Given the description of an element on the screen output the (x, y) to click on. 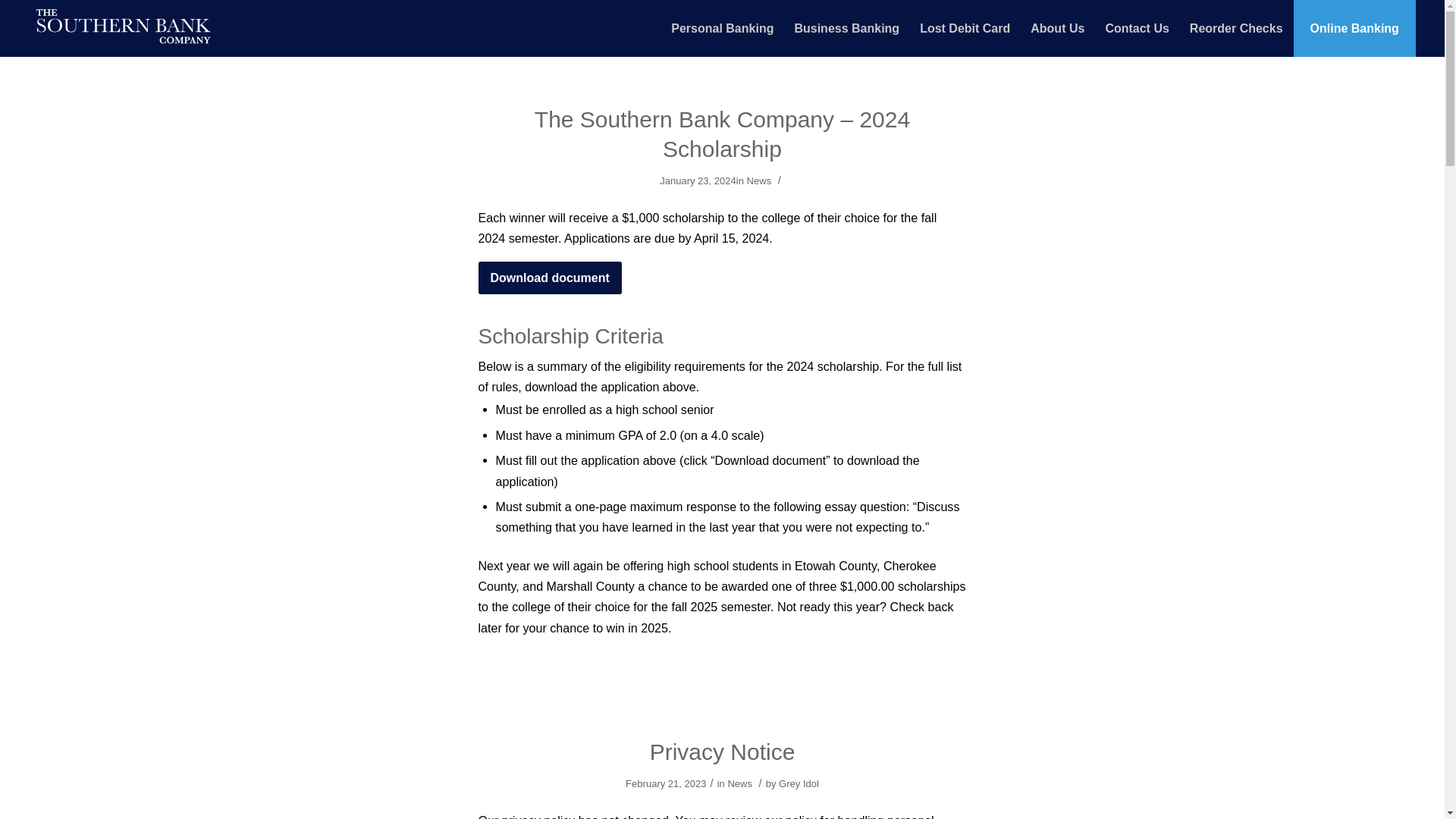
Business Banking (845, 28)
Personal Banking (722, 28)
Online Banking (1353, 28)
Contact Us (1135, 28)
News (758, 180)
Reorder Checks (1235, 28)
Grey Idol (798, 783)
Download document (549, 277)
About Us (1057, 28)
News (739, 783)
Lost Debit Card (964, 28)
Privacy Notice (721, 751)
